Given the description of an element on the screen output the (x, y) to click on. 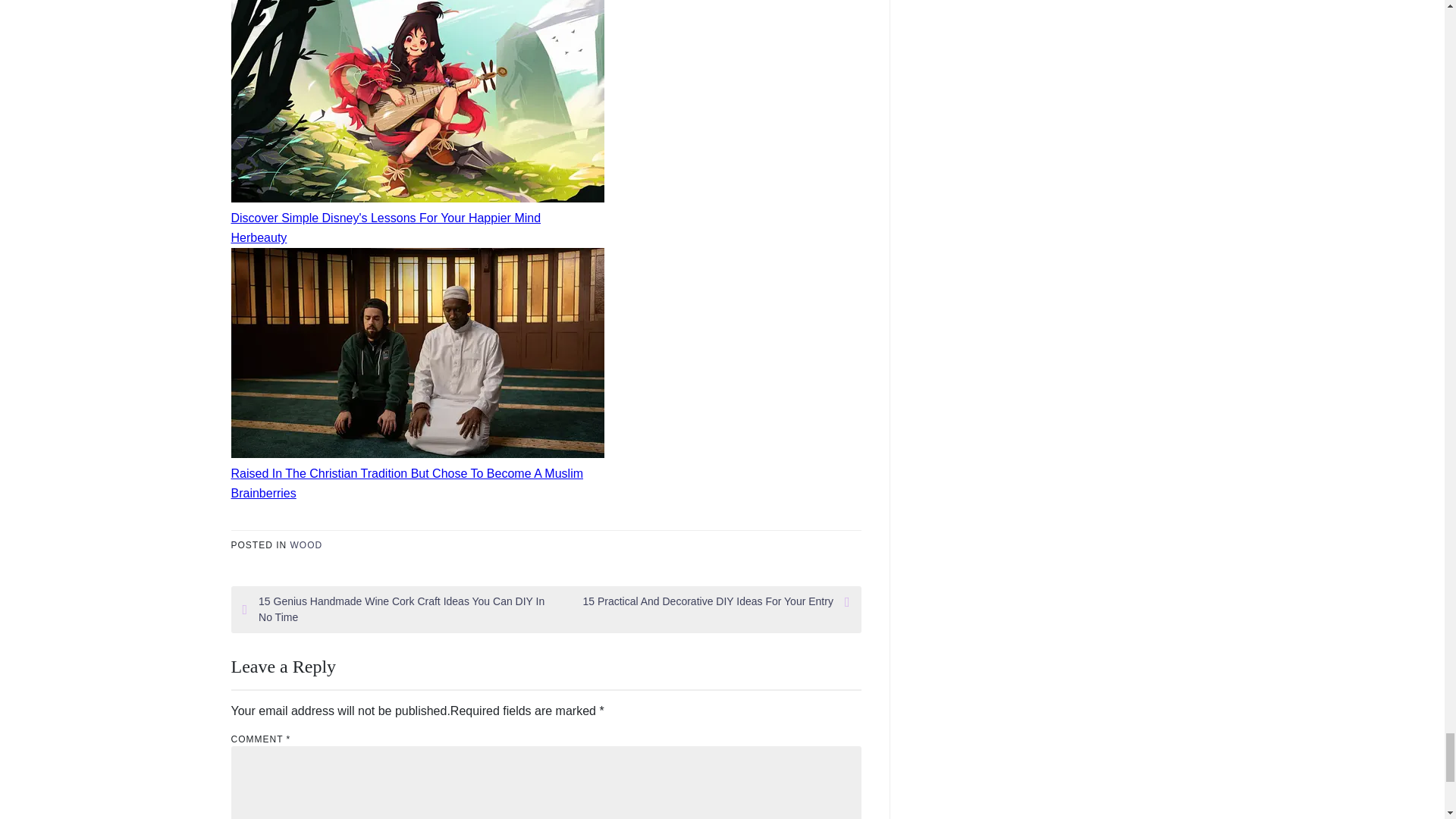
15 Practical And Decorative DIY Ideas For Your Entry (698, 601)
WOOD (306, 544)
